Given the description of an element on the screen output the (x, y) to click on. 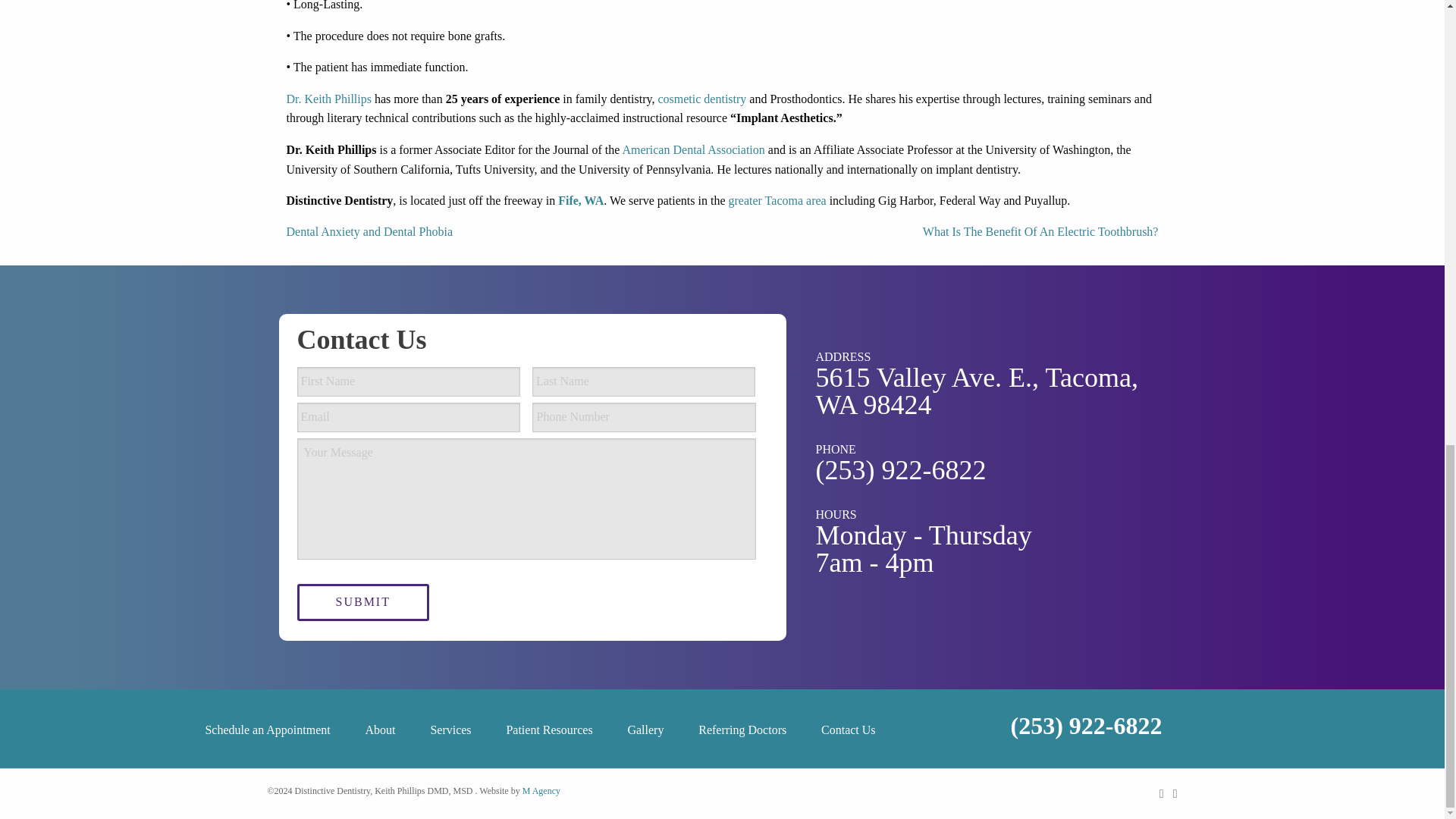
Submit (363, 601)
